Given the description of an element on the screen output the (x, y) to click on. 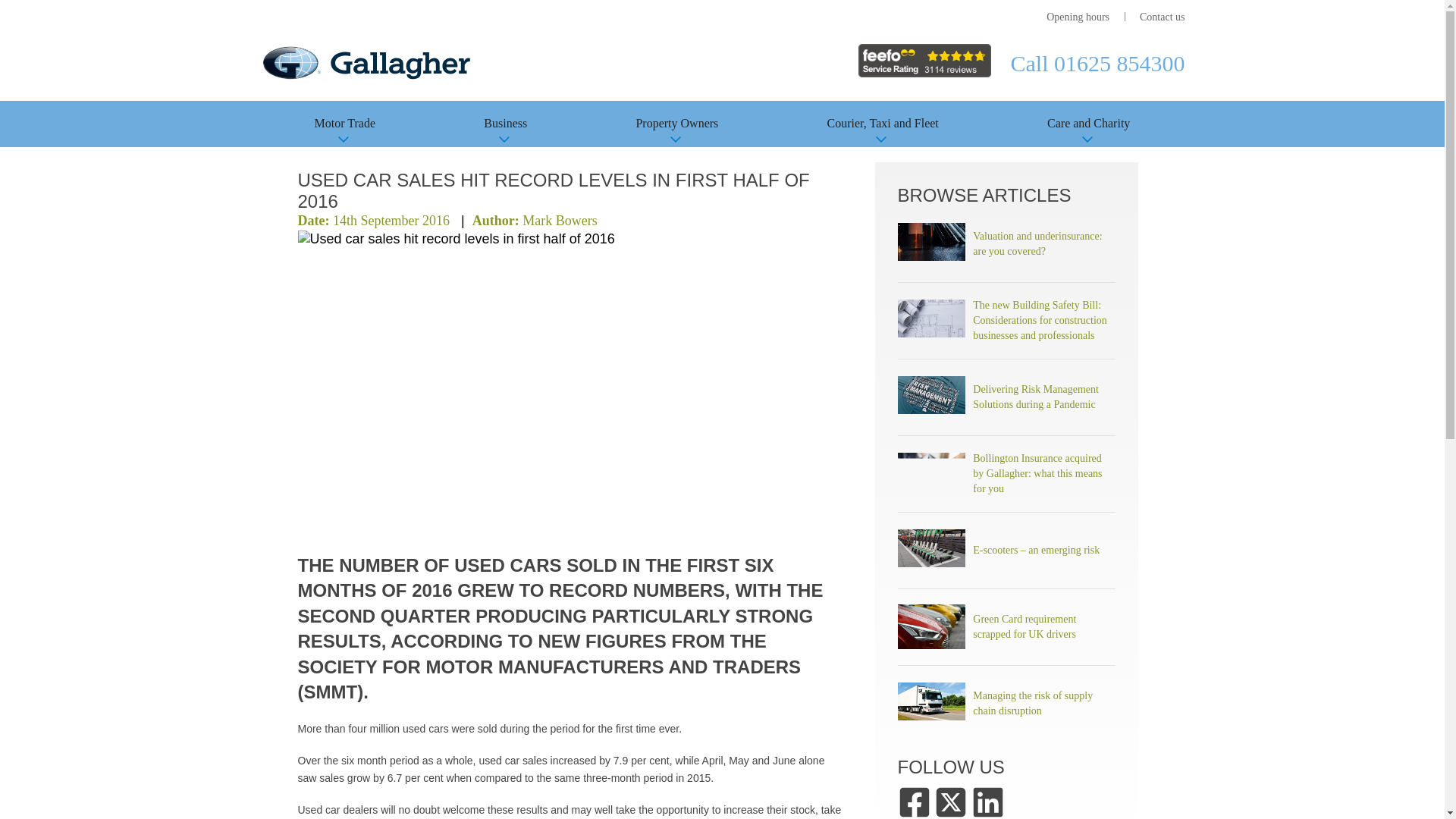
Business (504, 123)
Opening hours (1077, 16)
Call 01625 854300 (1097, 63)
Bollington Insurance (365, 62)
Contact us (1162, 16)
Motor Trade (344, 123)
